Given the description of an element on the screen output the (x, y) to click on. 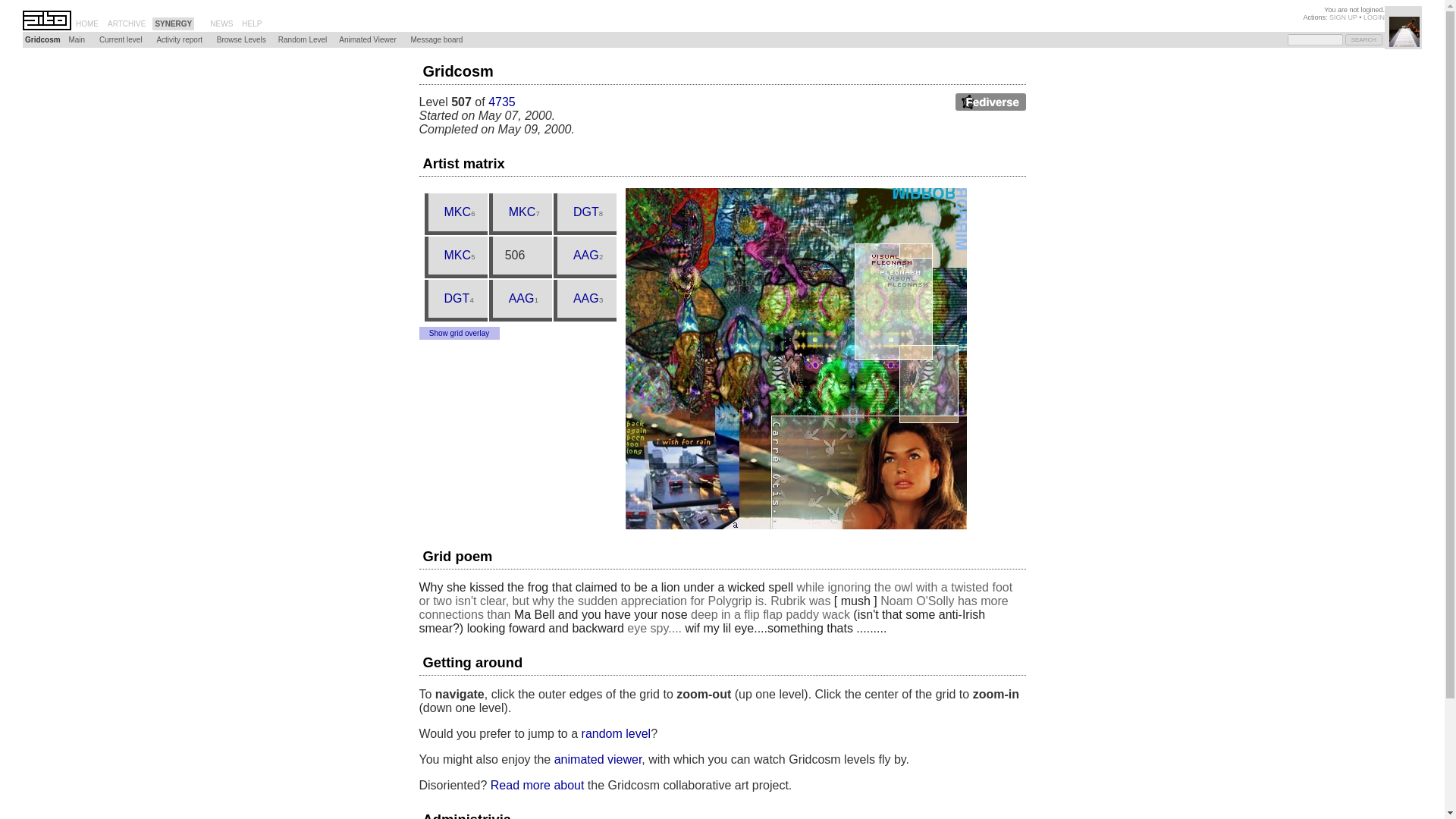
SEARCH (1363, 39)
jonathan prince activity (456, 298)
4735 (120, 39)
AAG (585, 254)
open help window for: Welcome to the Art of Gridcosm (251, 23)
See recent activity on SITO.org. (221, 23)
Mike Casey activity (456, 254)
Browse Levels (240, 39)
HELP (251, 23)
The main page of SITO.org. (87, 23)
Current level (120, 39)
Allison activity (585, 254)
Random Level (302, 39)
Animated Viewer (366, 39)
Message board (435, 39)
